Given the description of an element on the screen output the (x, y) to click on. 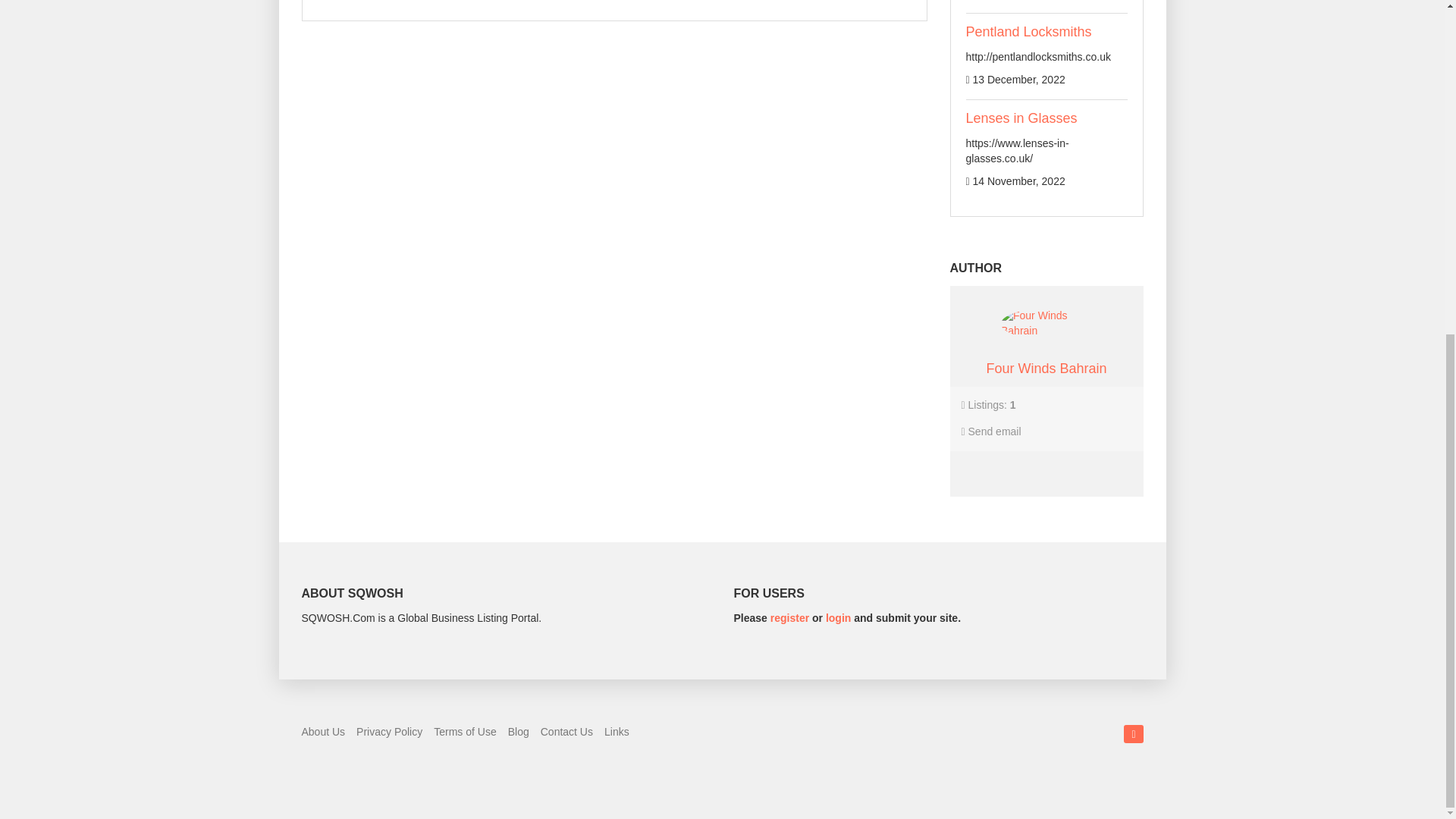
Four Winds Bahrain (1046, 323)
Pentland Locksmiths (1029, 31)
Lenses in Glasses (1021, 118)
